Given the description of an element on the screen output the (x, y) to click on. 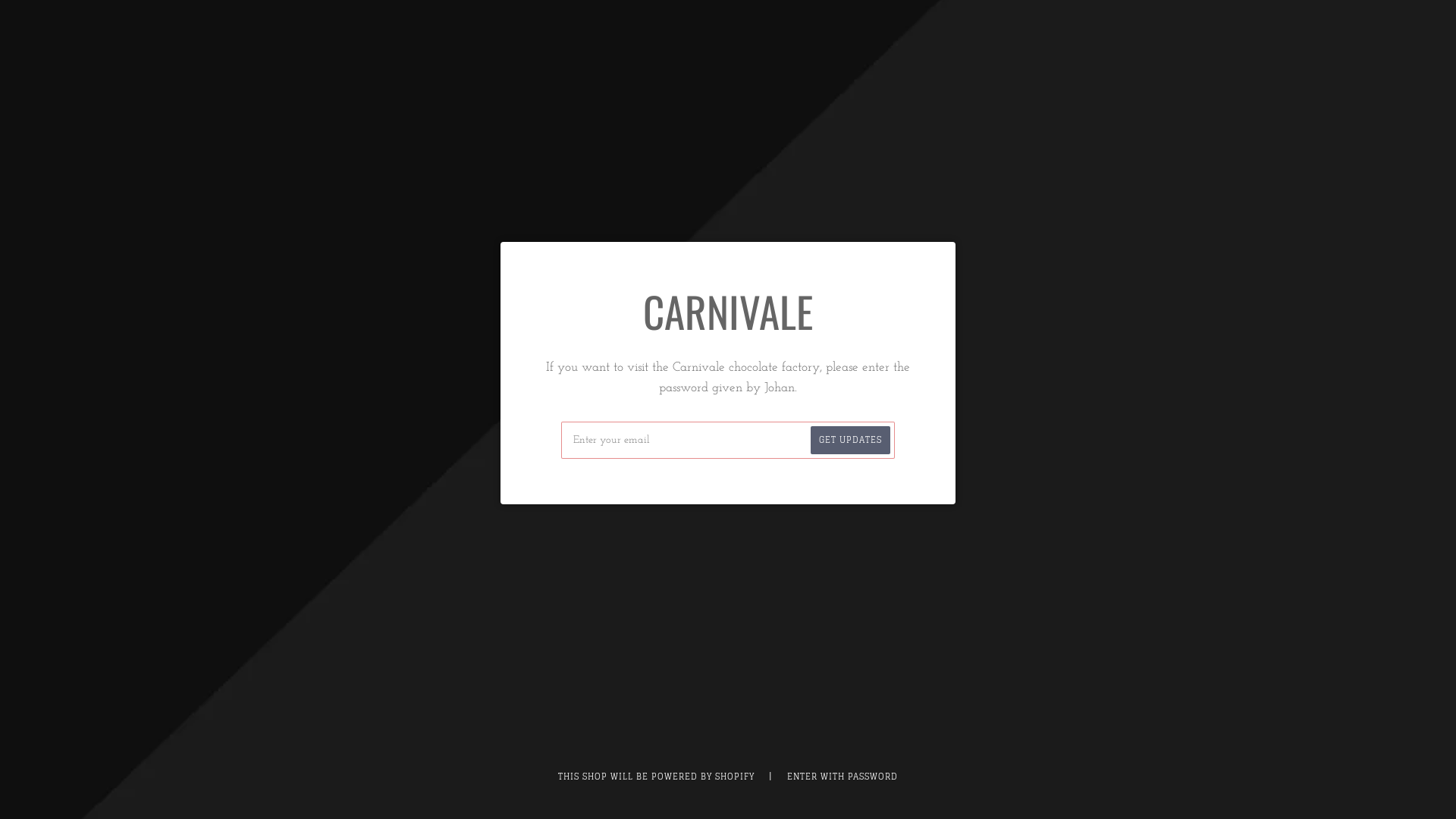
THIS SHOP WILL BE POWERED BY SHOPIFY Element type: text (657, 776)
GET UPDATES Element type: text (850, 440)
ENTER WITH PASSWORD Element type: text (842, 776)
